Given the description of an element on the screen output the (x, y) to click on. 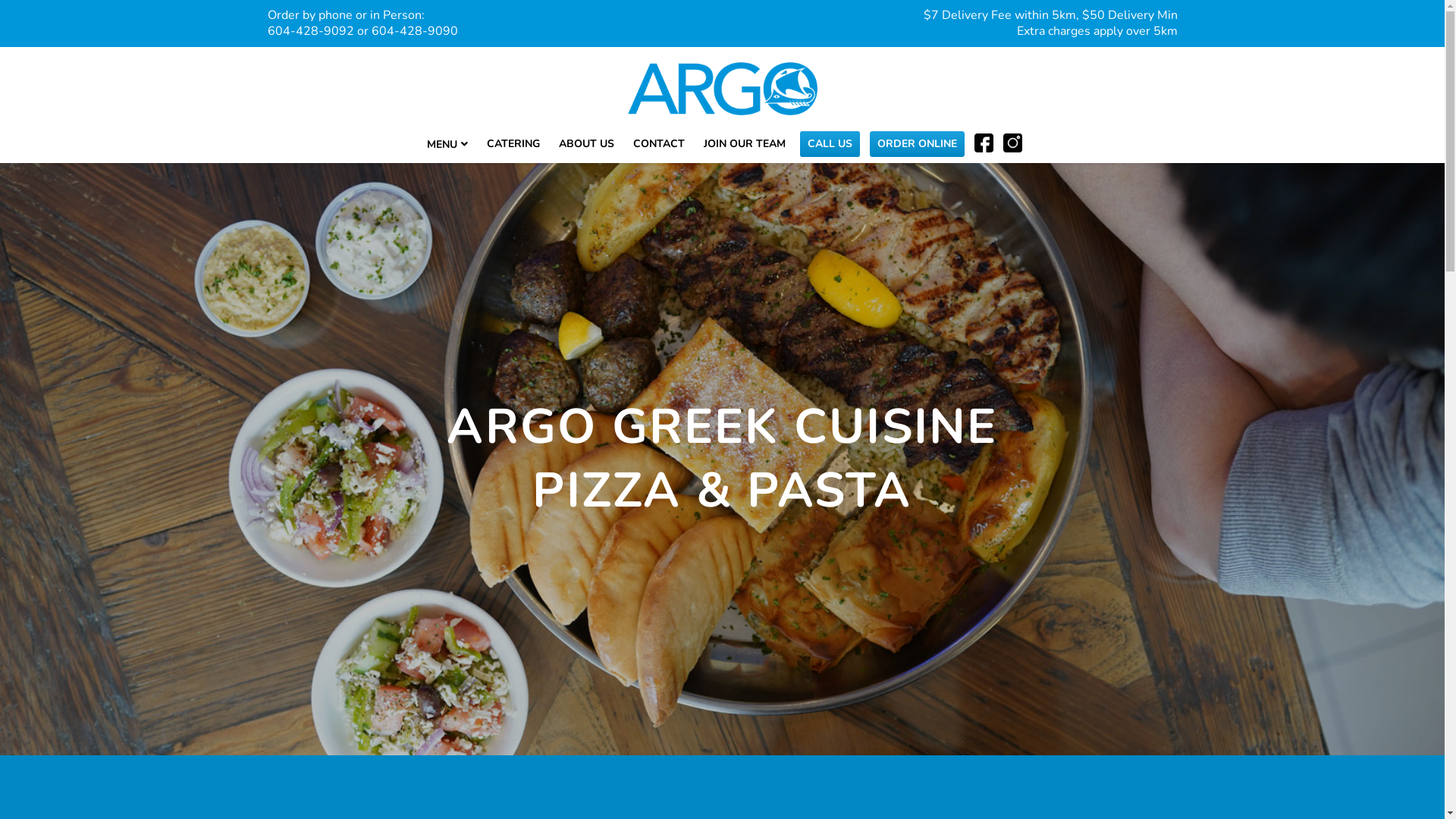
CALL US Element type: text (830, 146)
CONTACT Element type: text (659, 146)
CATERING Element type: text (513, 146)
ORDER ONLINE Element type: text (917, 146)
ABOUT US Element type: text (586, 146)
MENU Element type: text (447, 146)
JOIN OUR TEAM Element type: text (744, 146)
